Given the description of an element on the screen output the (x, y) to click on. 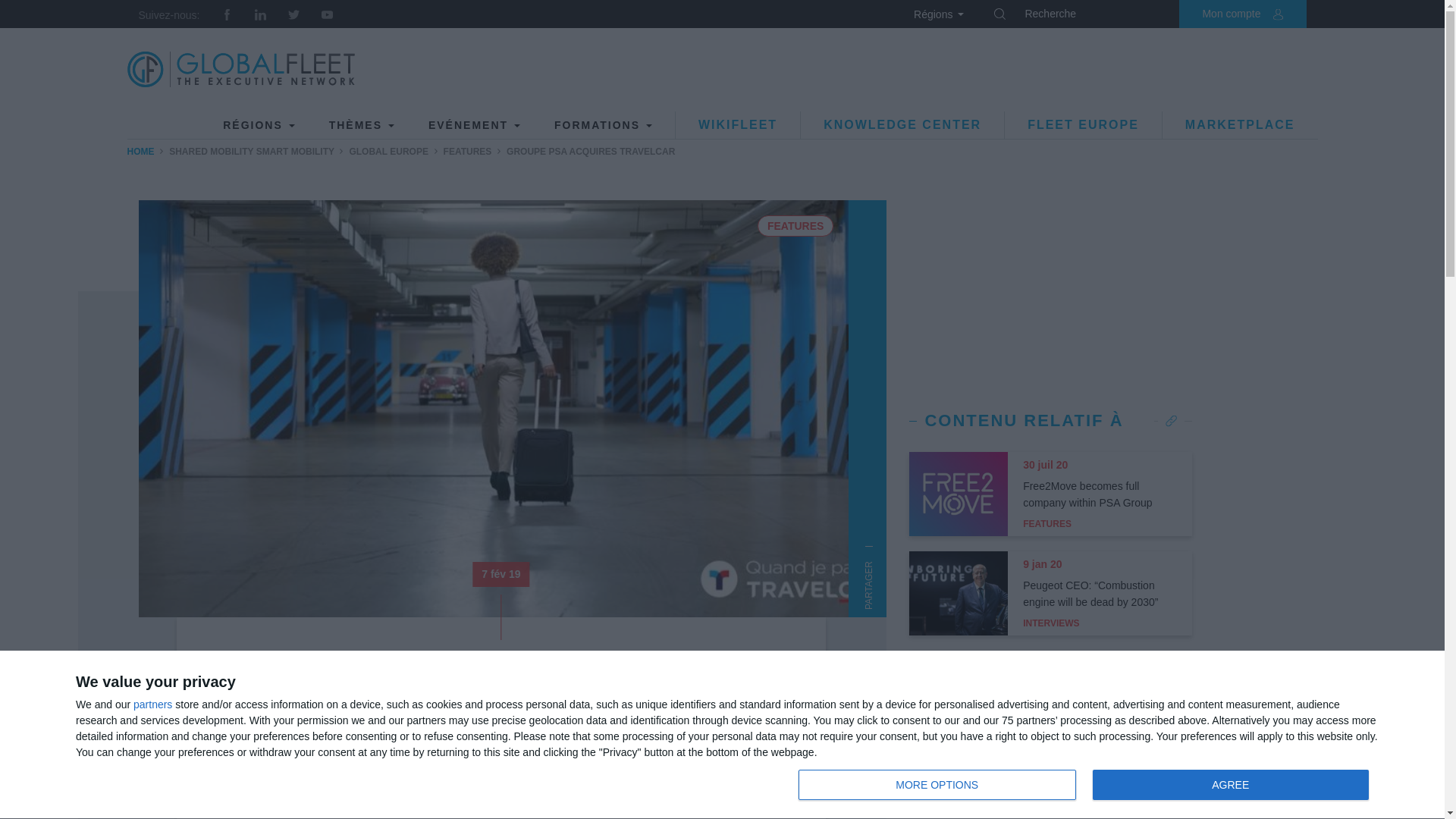
MORE OPTIONS (936, 784)
Recherche (1086, 785)
Twitter (1000, 12)
Facebook (293, 14)
3rd party ad content (226, 14)
Youtube (1041, 70)
3rd party ad content (327, 14)
partners (1050, 294)
MARKETPLACE (152, 704)
3rd party ad content (1239, 124)
Recherche (1050, 787)
Global Fleet (1219, 13)
Accueil (241, 69)
LinkedIn (241, 69)
